Given the description of an element on the screen output the (x, y) to click on. 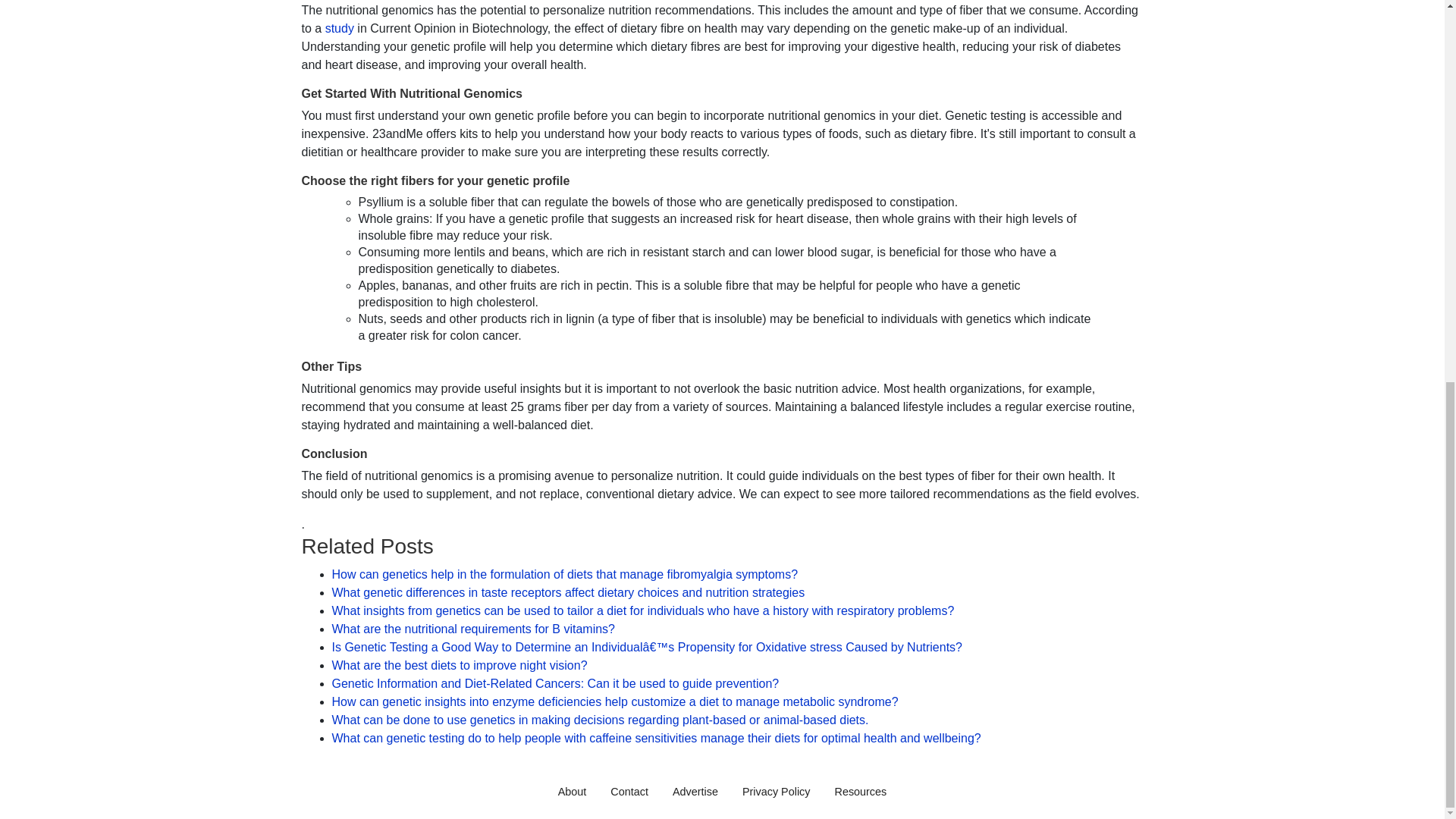
What are the best diets to improve night vision? (459, 665)
Resources (860, 791)
Advertise (694, 791)
About (571, 791)
study (341, 28)
Contact (628, 791)
What are the nutritional requirements for B vitamins? (473, 628)
Privacy Policy (776, 791)
